Given the description of an element on the screen output the (x, y) to click on. 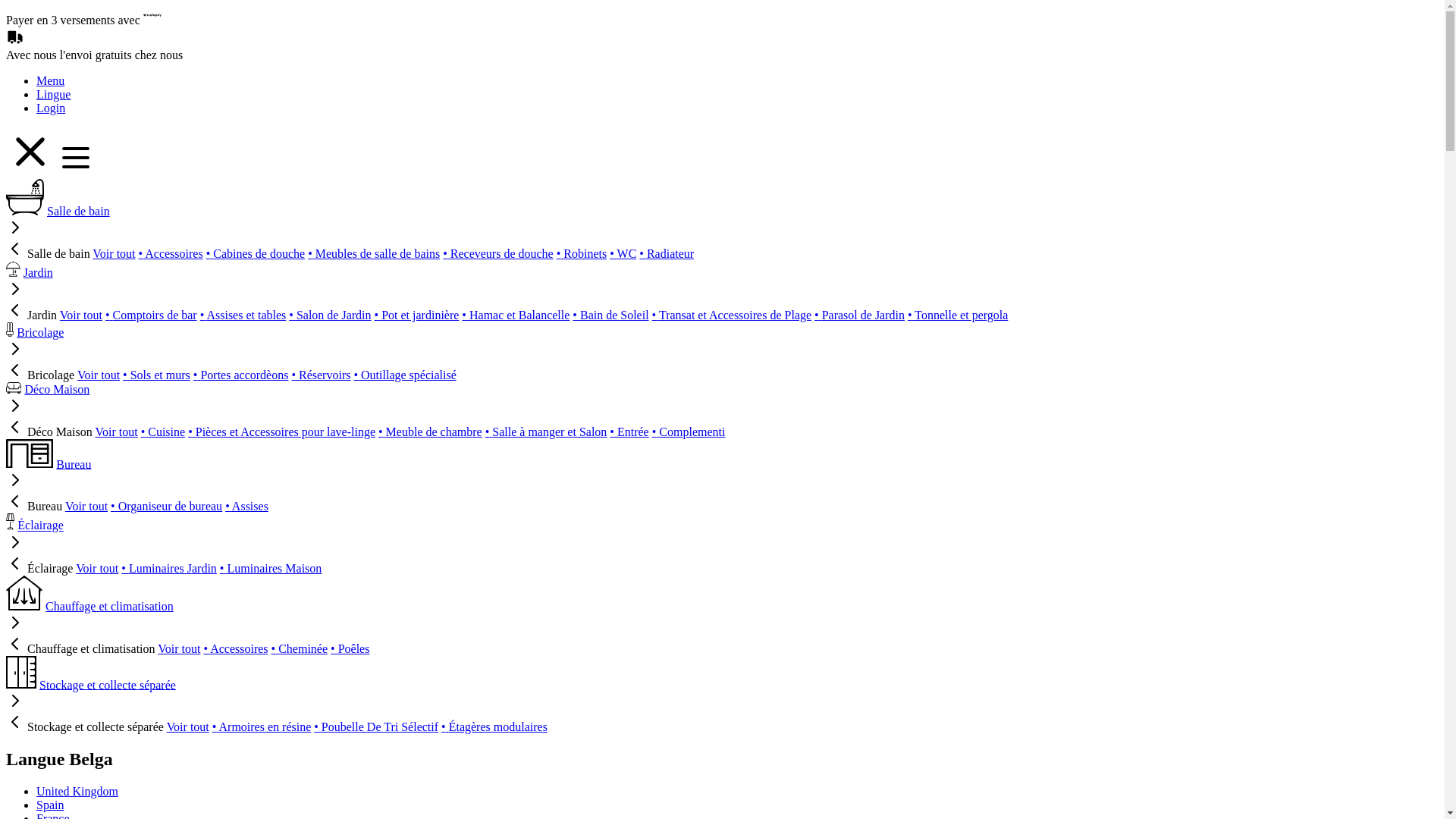
chevron-left Bureau Element type: text (34, 505)
x menu Element type: text (50, 171)
Voir tout Element type: text (80, 314)
Voir tout Element type: text (86, 505)
Lingue Element type: text (53, 93)
chevron-right Element type: text (15, 546)
Voir tout Element type: text (96, 567)
Voir tout Element type: text (115, 431)
Chauffage et climatisation Element type: text (109, 605)
Voir tout Element type: text (178, 648)
chevron-right Element type: text (15, 705)
chevron-right Element type: text (15, 353)
chevron-right Element type: text (15, 293)
Login Element type: text (50, 107)
chevron-right Element type: text (15, 484)
Spain Element type: text (49, 804)
Voir tout Element type: text (113, 253)
Bricolage Element type: text (39, 332)
Salle de bain Element type: text (78, 210)
United Kingdom Element type: text (77, 790)
chevron-left Jardin Element type: text (31, 314)
chevron-left Bricolage Element type: text (40, 374)
Voir tout Element type: text (187, 726)
Voir tout Element type: text (98, 374)
Jardin Element type: text (38, 272)
chevron-left Salle de bain Element type: text (48, 253)
chevron-right Element type: text (15, 410)
Menu Element type: text (50, 80)
chevron-right Element type: text (15, 627)
chevron-right Element type: text (15, 231)
Bureau Element type: text (73, 463)
chevron-left Chauffage et climatisation Element type: text (80, 648)
